Given the description of an element on the screen output the (x, y) to click on. 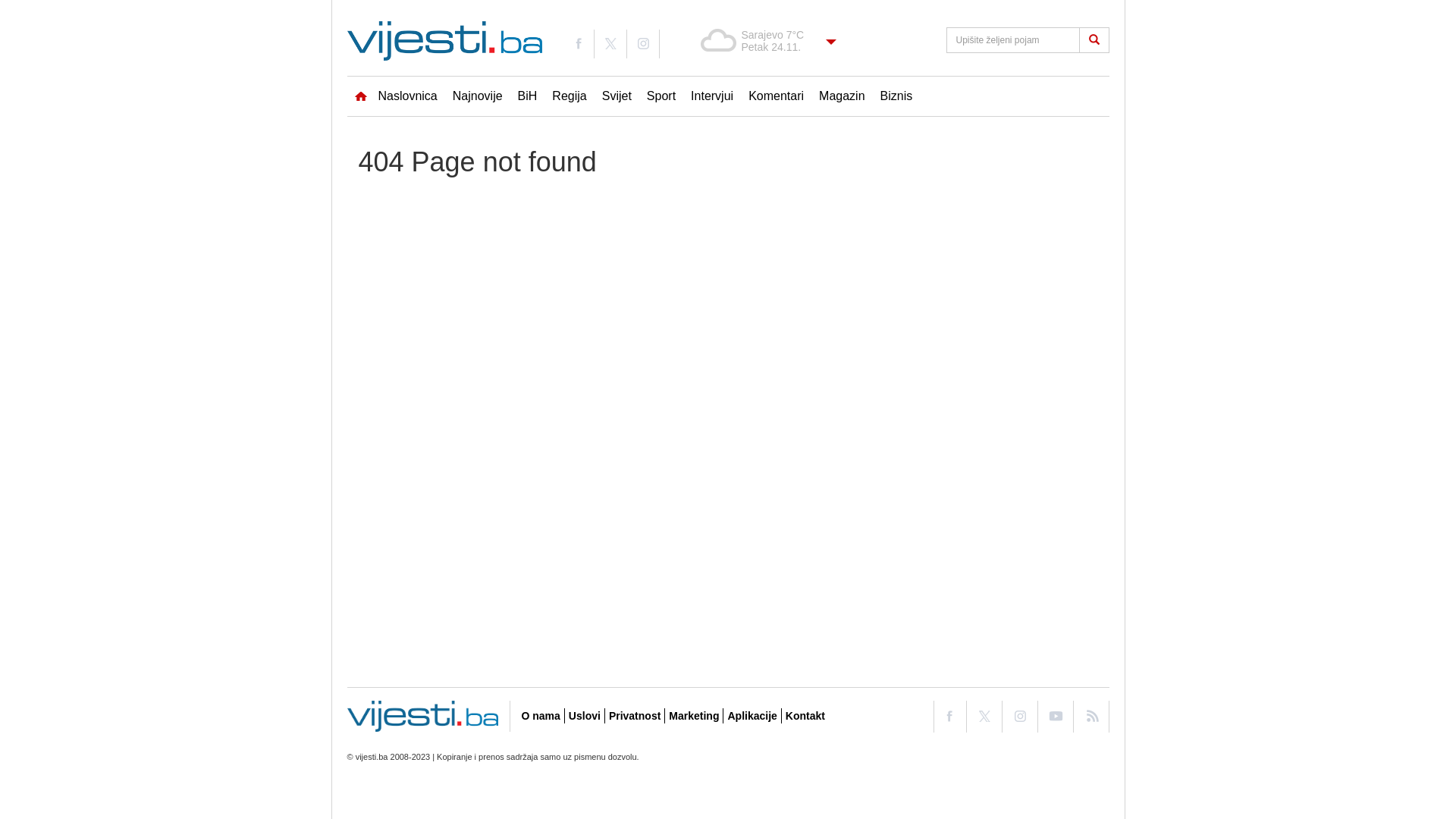
Aplikacije Element type: text (751, 715)
Uslovi Element type: text (584, 715)
O nama Element type: text (540, 715)
Magazin Element type: text (841, 96)
Regija Element type: text (568, 96)
Intervjui Element type: text (711, 96)
Kontakt Element type: text (805, 715)
Privatnost Element type: text (634, 715)
Marketing Element type: text (693, 715)
Svijet Element type: text (616, 96)
BiH Element type: text (527, 96)
Komentari Element type: text (775, 96)
Sport Element type: text (661, 96)
Najnovije Element type: text (477, 96)
Naslovnica Element type: text (396, 96)
Biznis Element type: text (896, 96)
